Given the description of an element on the screen output the (x, y) to click on. 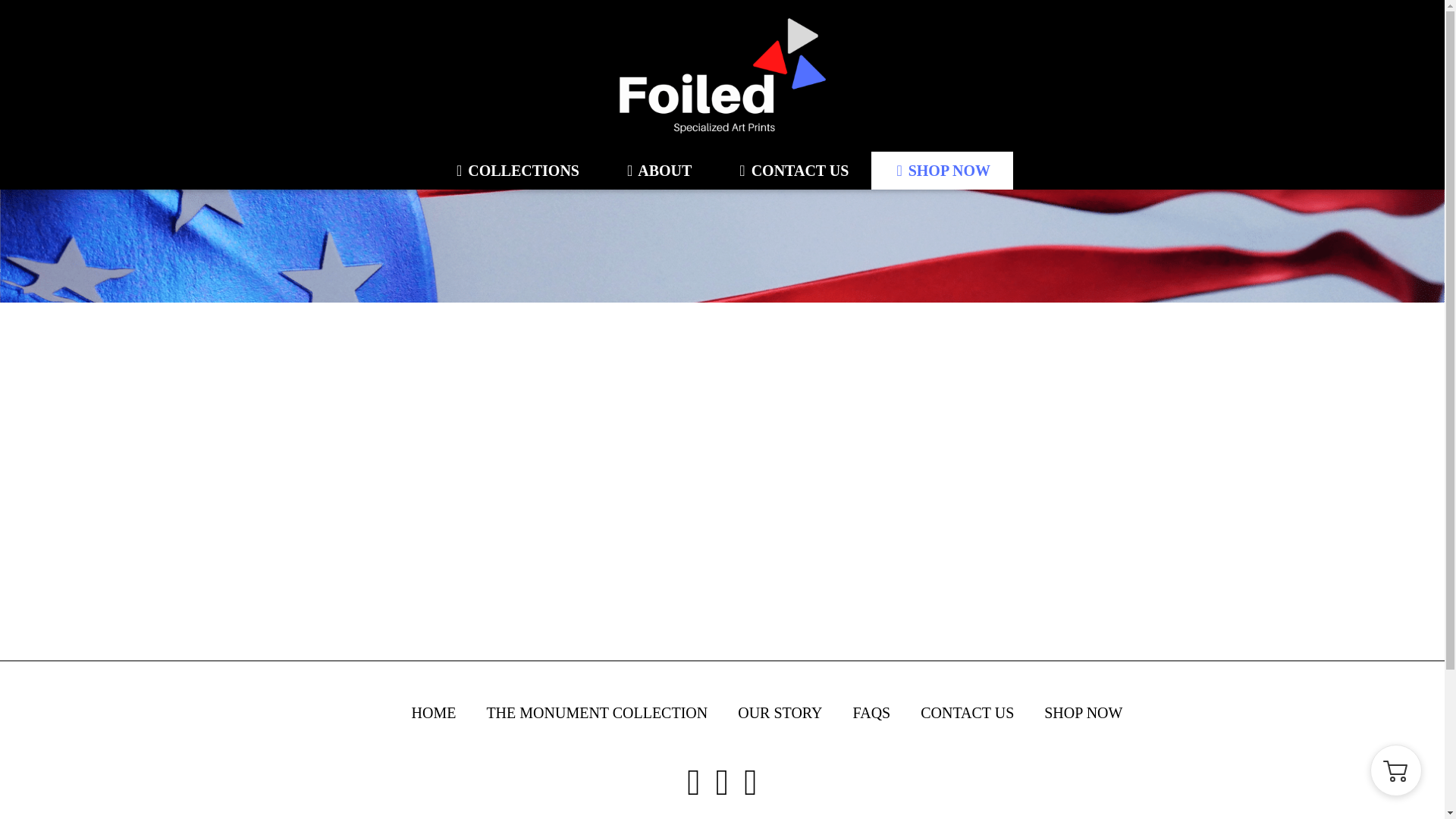
COLLECTIONS (516, 170)
FAQS (872, 712)
OUR STORY (780, 712)
CONTACT US (792, 170)
HOME (432, 712)
ABOUT (658, 170)
SHOP NOW (941, 170)
CONTACT US (966, 712)
THE MONUMENT COLLECTION (596, 712)
SHOP NOW (1082, 712)
